Given the description of an element on the screen output the (x, y) to click on. 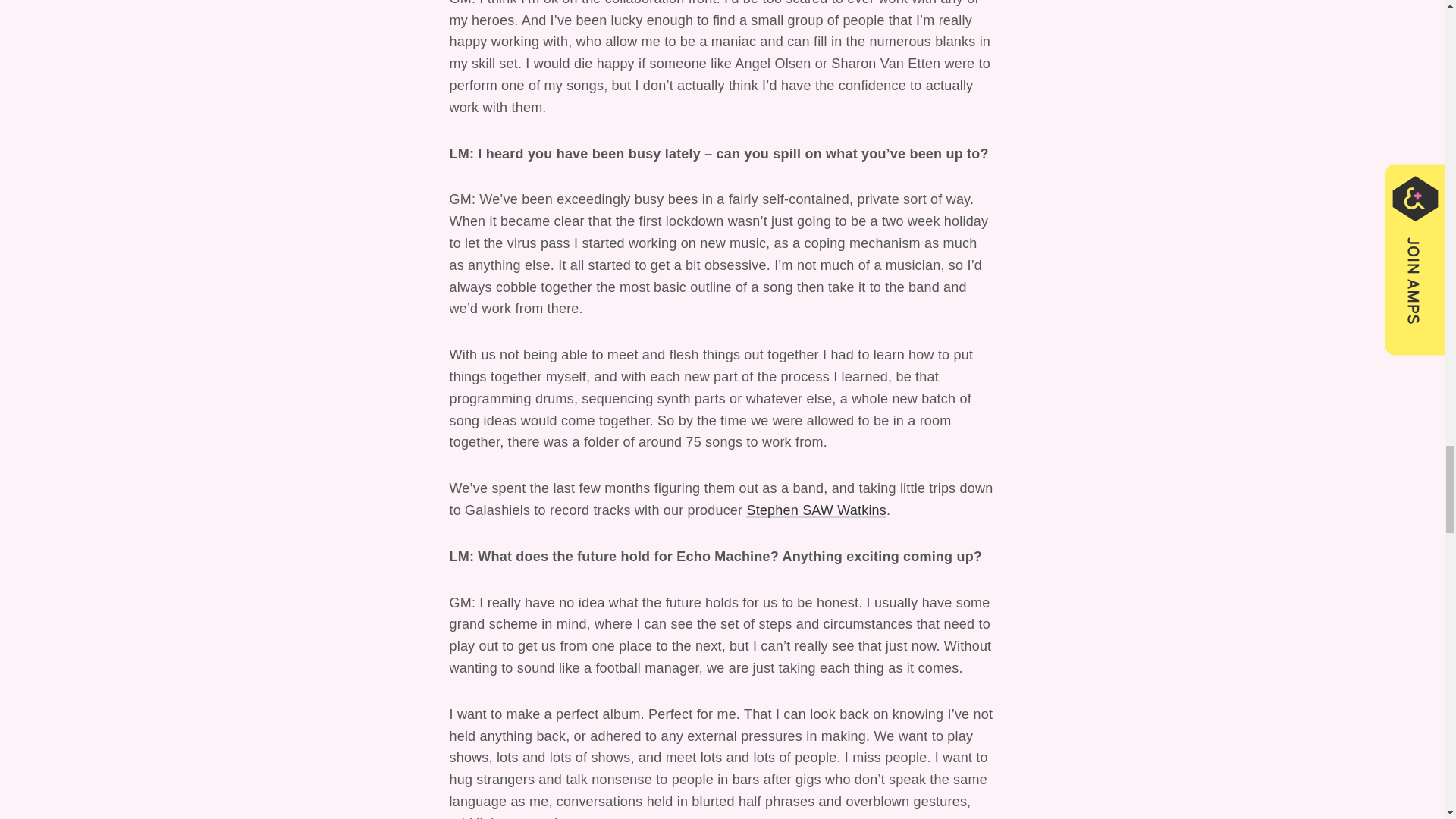
Stephen SAW Watkins (815, 509)
